Given the description of an element on the screen output the (x, y) to click on. 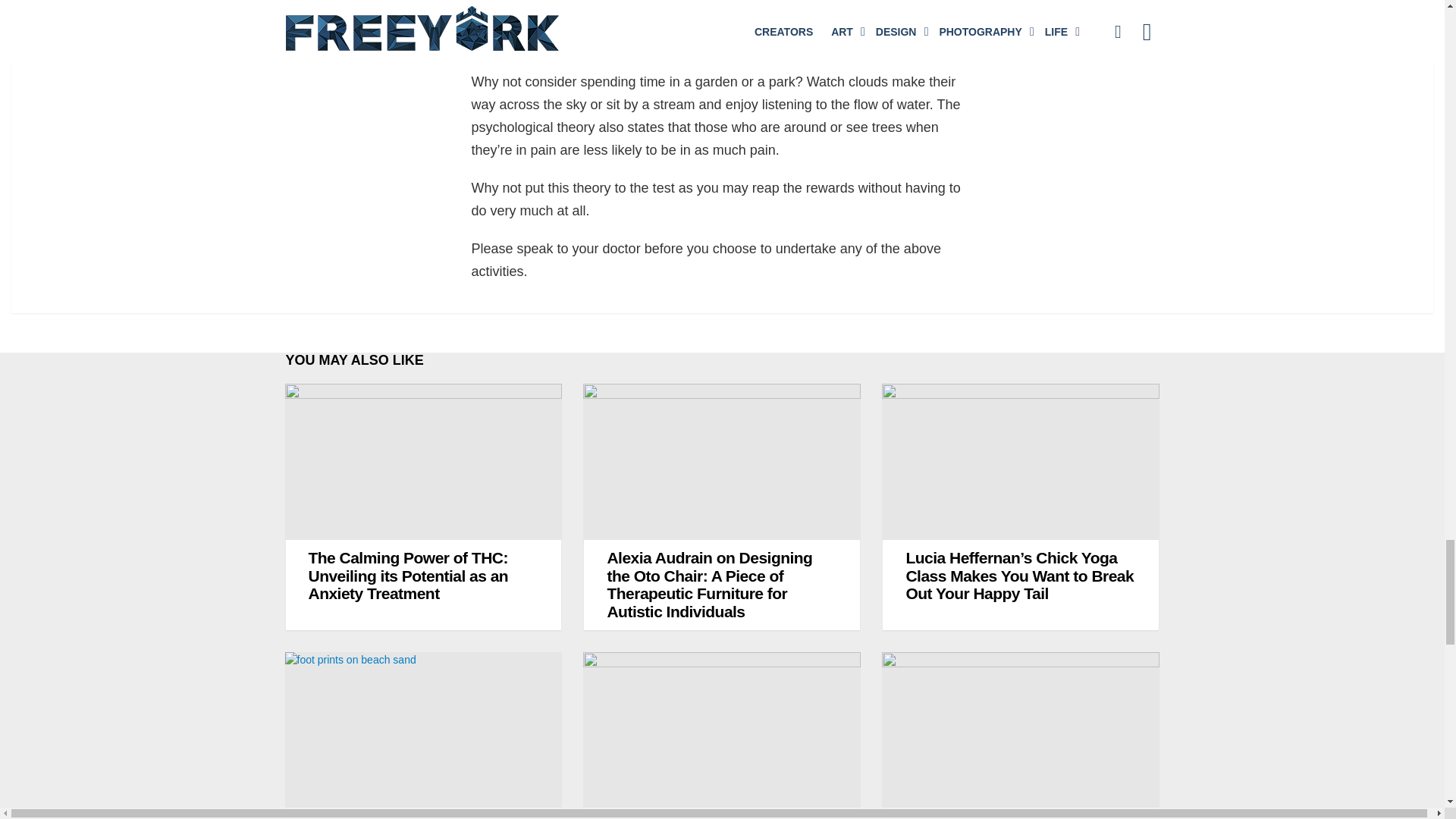
Safe and Effective Ways to Relieve Your Pain (722, 12)
Six Ways To Improve Your At-Home Yoga Practice (721, 729)
Are Electric Foot Massagers Good For You? (423, 729)
